Given the description of an element on the screen output the (x, y) to click on. 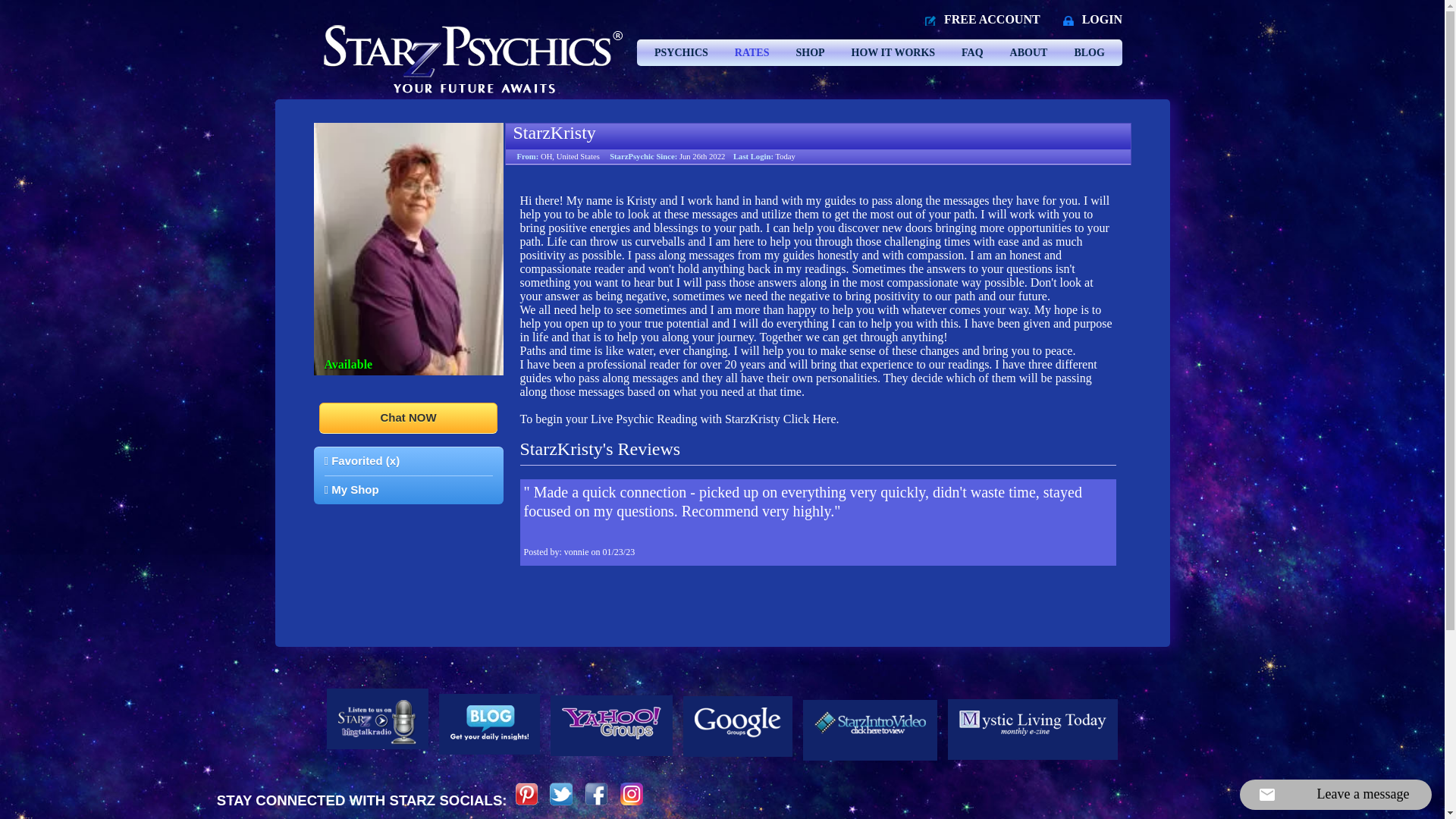
LOGIN (1101, 19)
Chat NOW (407, 417)
BLOG (1088, 51)
FAQ (972, 51)
ABOUT (1029, 51)
SHOP (809, 51)
PSYCHICS (680, 51)
Leave a message (1335, 794)
FREE ACCOUNT (992, 19)
Click Here (809, 418)
RATES (752, 51)
My Shop (351, 489)
HOW IT WORKS (892, 51)
